Given the description of an element on the screen output the (x, y) to click on. 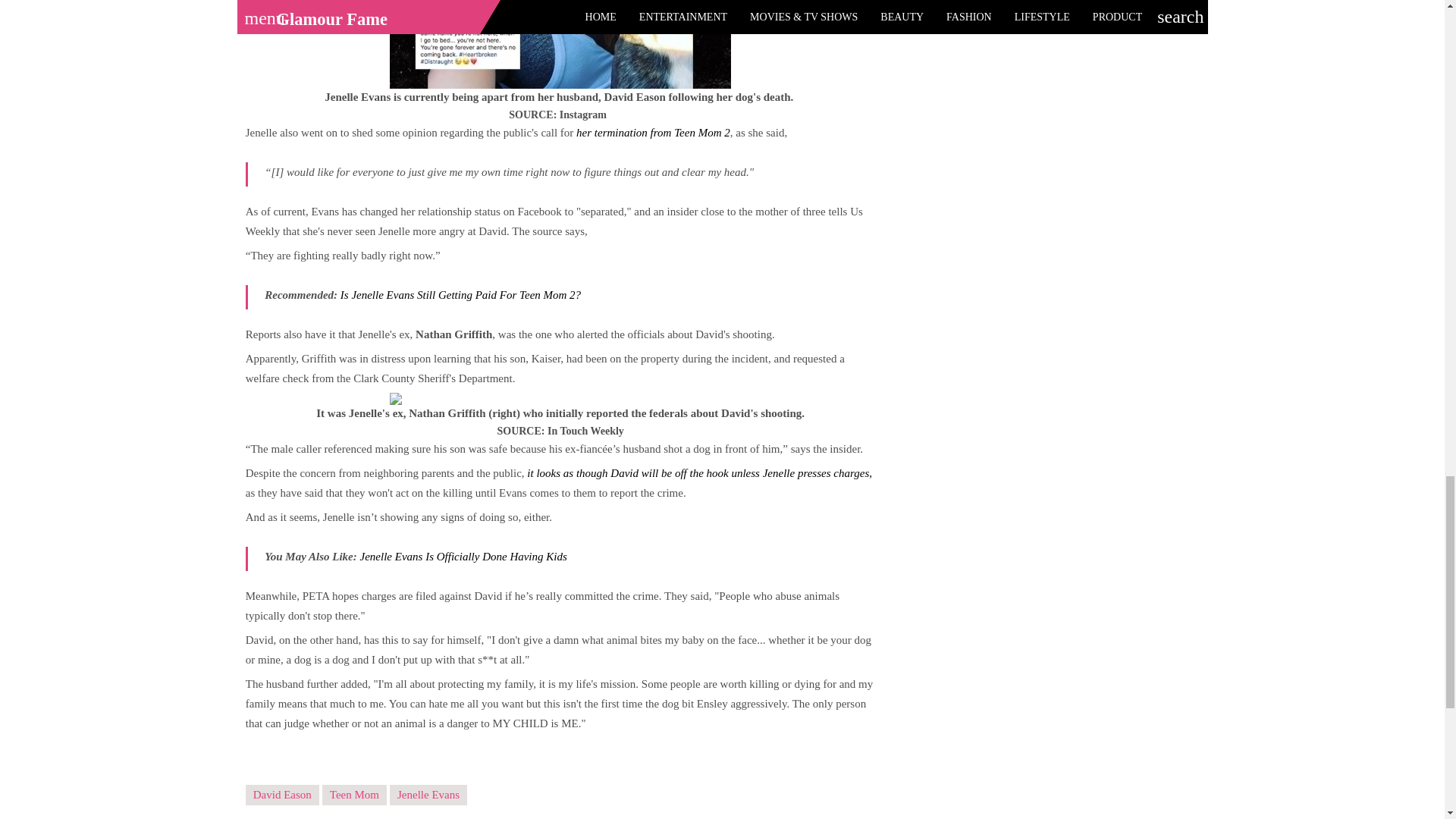
her termination from Teen Mom 2 (653, 132)
Jenelle Evans Is Officially Done Having Kids (463, 556)
Is Jenelle Evans Still Getting Paid For Teen Mom 2? (460, 295)
Teen Mom (354, 794)
David Eason (282, 794)
Jenelle Evans (428, 794)
